Given the description of an element on the screen output the (x, y) to click on. 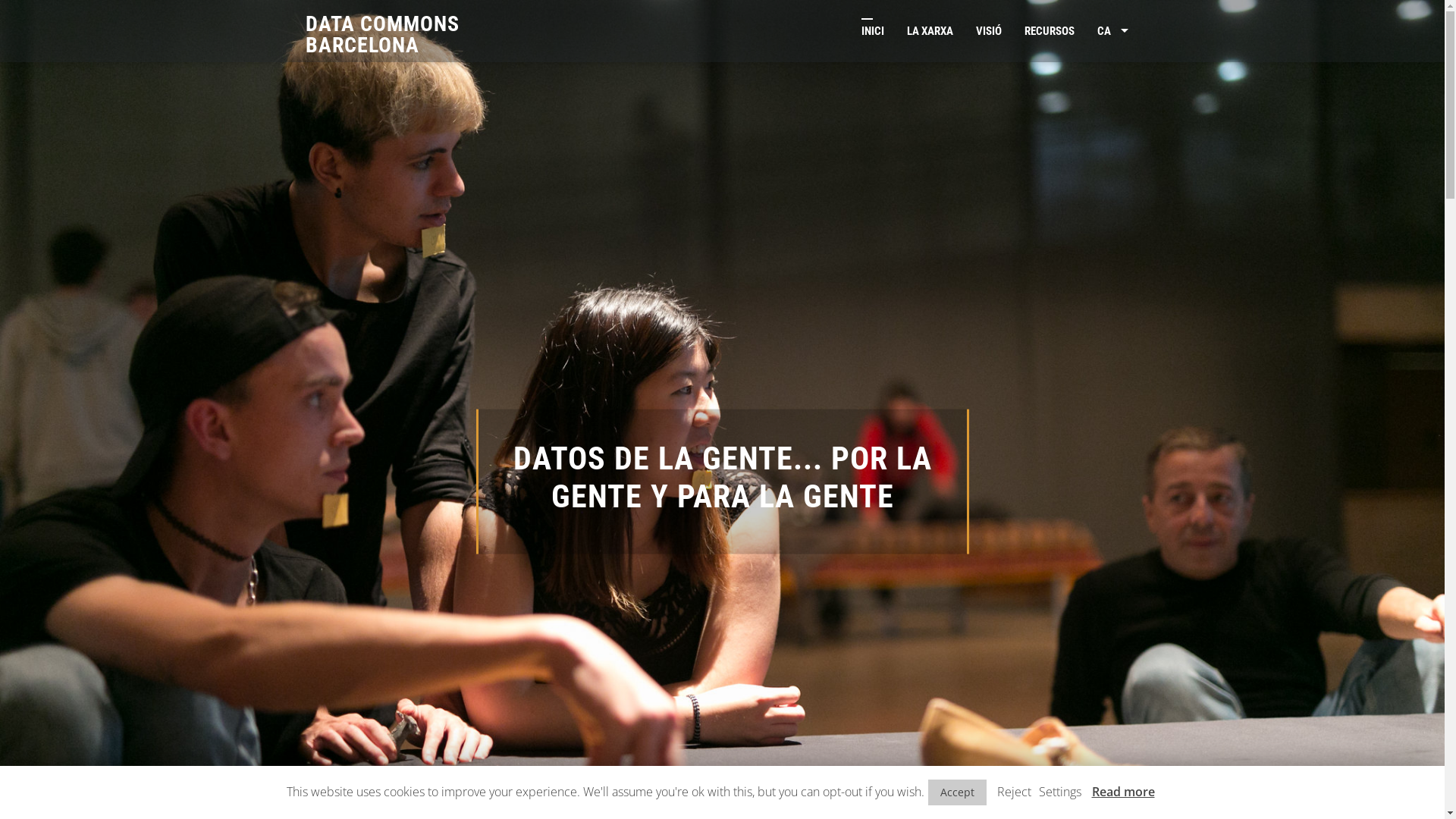
RECURSOS Element type: text (1049, 31)
INICI Element type: text (872, 31)
Read more Element type: text (1123, 792)
Settings Element type: text (1059, 791)
Accept Element type: text (957, 792)
Reject Element type: text (1013, 791)
LA XARXA Element type: text (929, 31)
DATA COMMONS BARCELONA Element type: text (381, 34)
CA Element type: text (1112, 31)
